Given the description of an element on the screen output the (x, y) to click on. 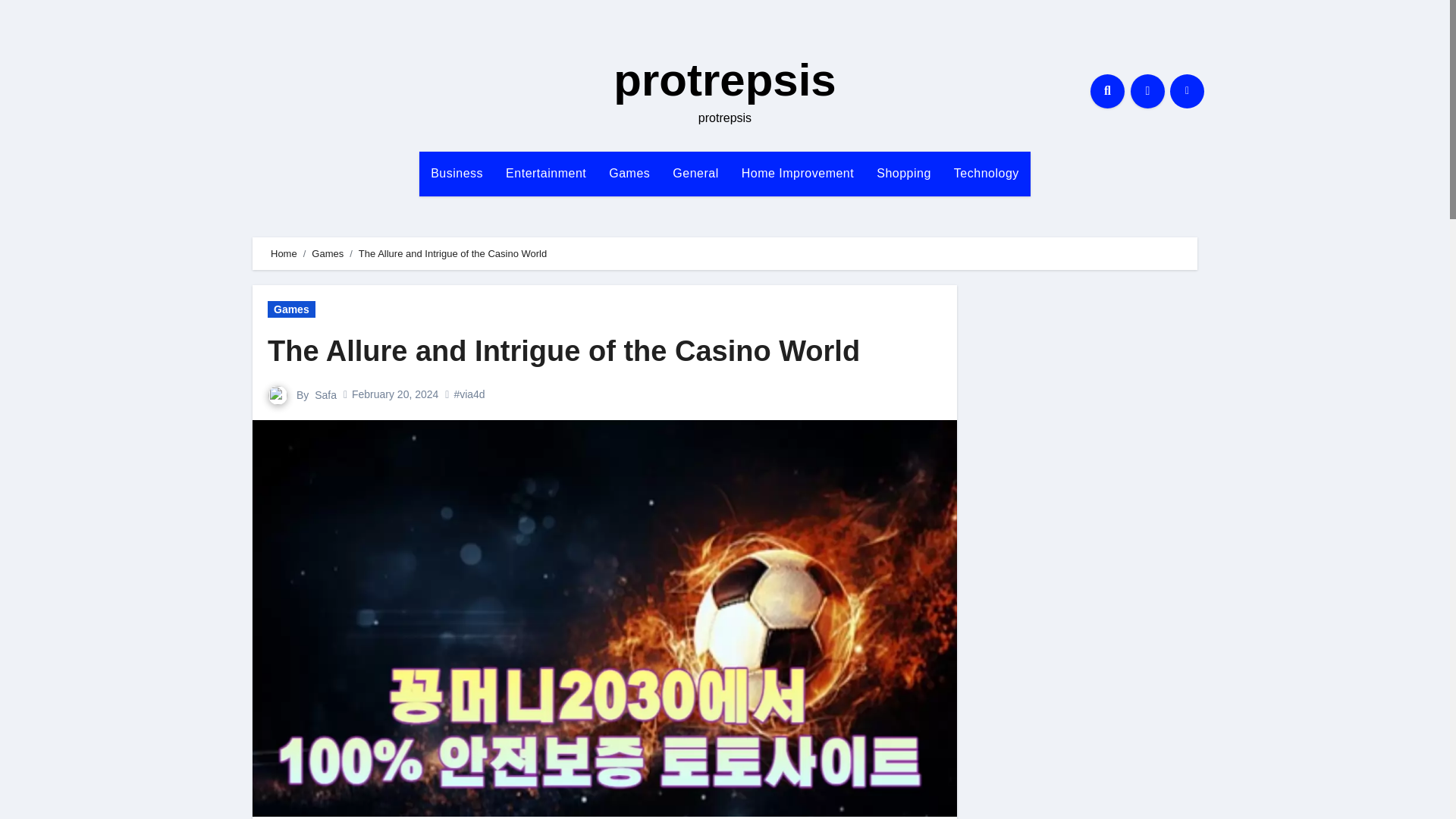
Technology (986, 173)
Games (628, 173)
Safa (325, 394)
February 20, 2024 (395, 394)
Home (283, 253)
Shopping (903, 173)
Business (457, 173)
The Allure and Intrigue of the Casino World (563, 350)
Home Improvement (798, 173)
Shopping (903, 173)
Games (327, 253)
protrepsis (723, 79)
Home Improvement (798, 173)
Technology (986, 173)
Entertainment (545, 173)
